Given the description of an element on the screen output the (x, y) to click on. 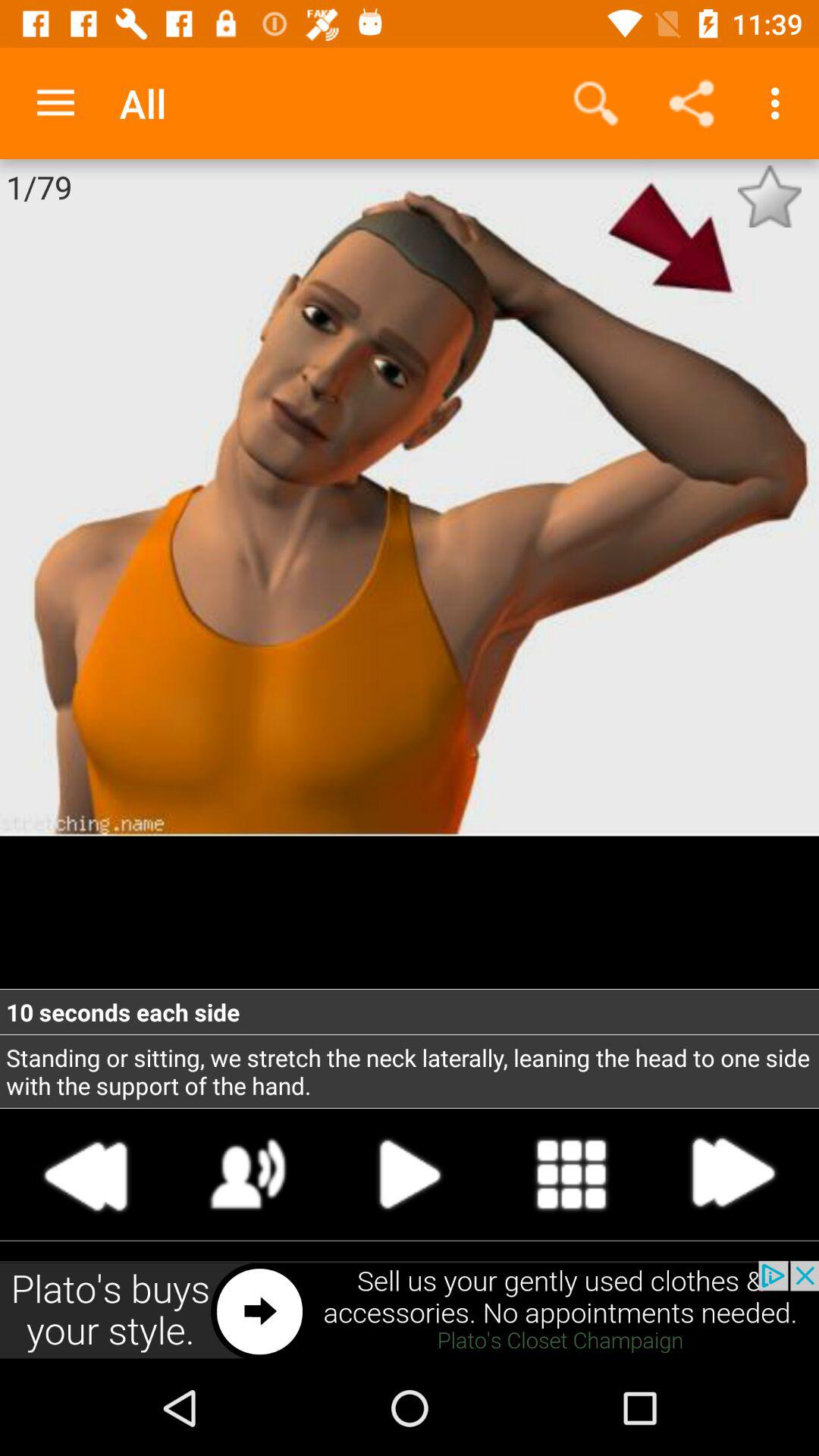
make favorite (769, 196)
